Given the description of an element on the screen output the (x, y) to click on. 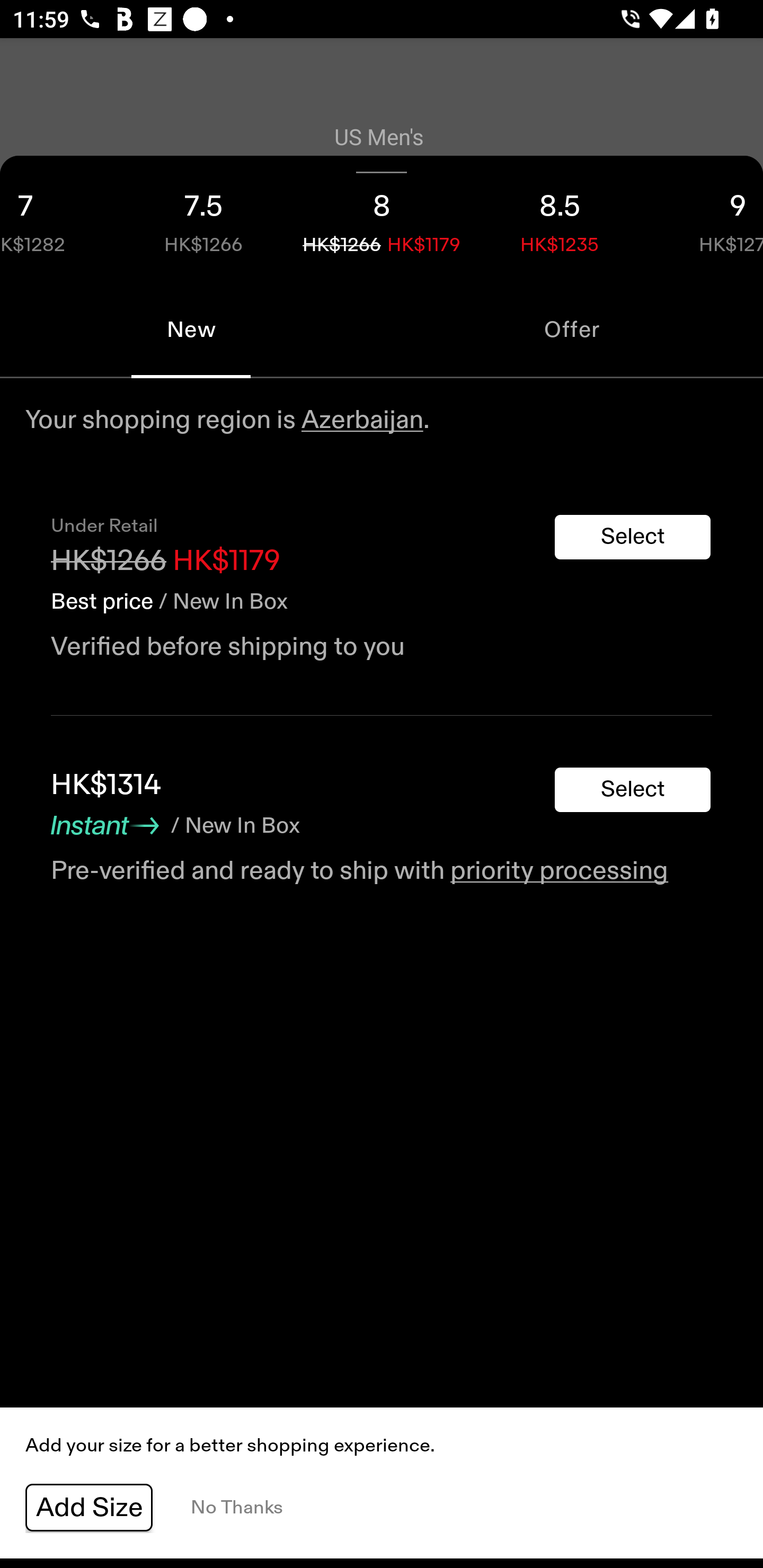
7 HK$1282 (57, 218)
7.5 HK$1266 (203, 218)
8 HK$1266 HK$1179 (381, 218)
8.5 HK$1235 (559, 218)
9 HK$1274 (705, 218)
Offer (572, 329)
Select (632, 536)
HK$1314 (105, 785)
Select (632, 789)
No Thanks (236, 1507)
Add Size (88, 1507)
